Given the description of an element on the screen output the (x, y) to click on. 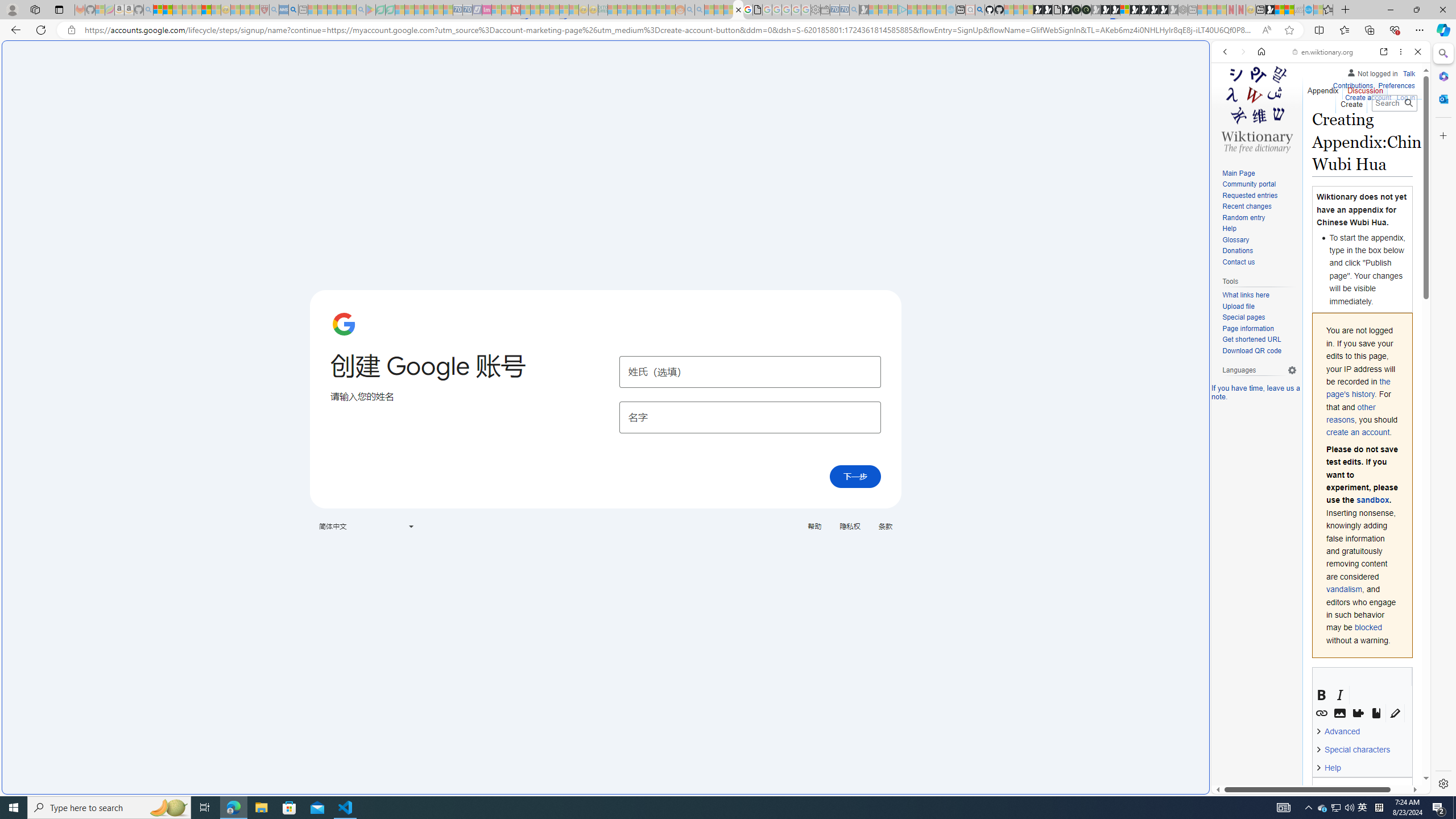
Main Page (1238, 172)
other reasons (1350, 413)
Images and media (1339, 713)
Donations (1259, 251)
Contributions (1352, 84)
Visit the main page (1257, 108)
